Given the description of an element on the screen output the (x, y) to click on. 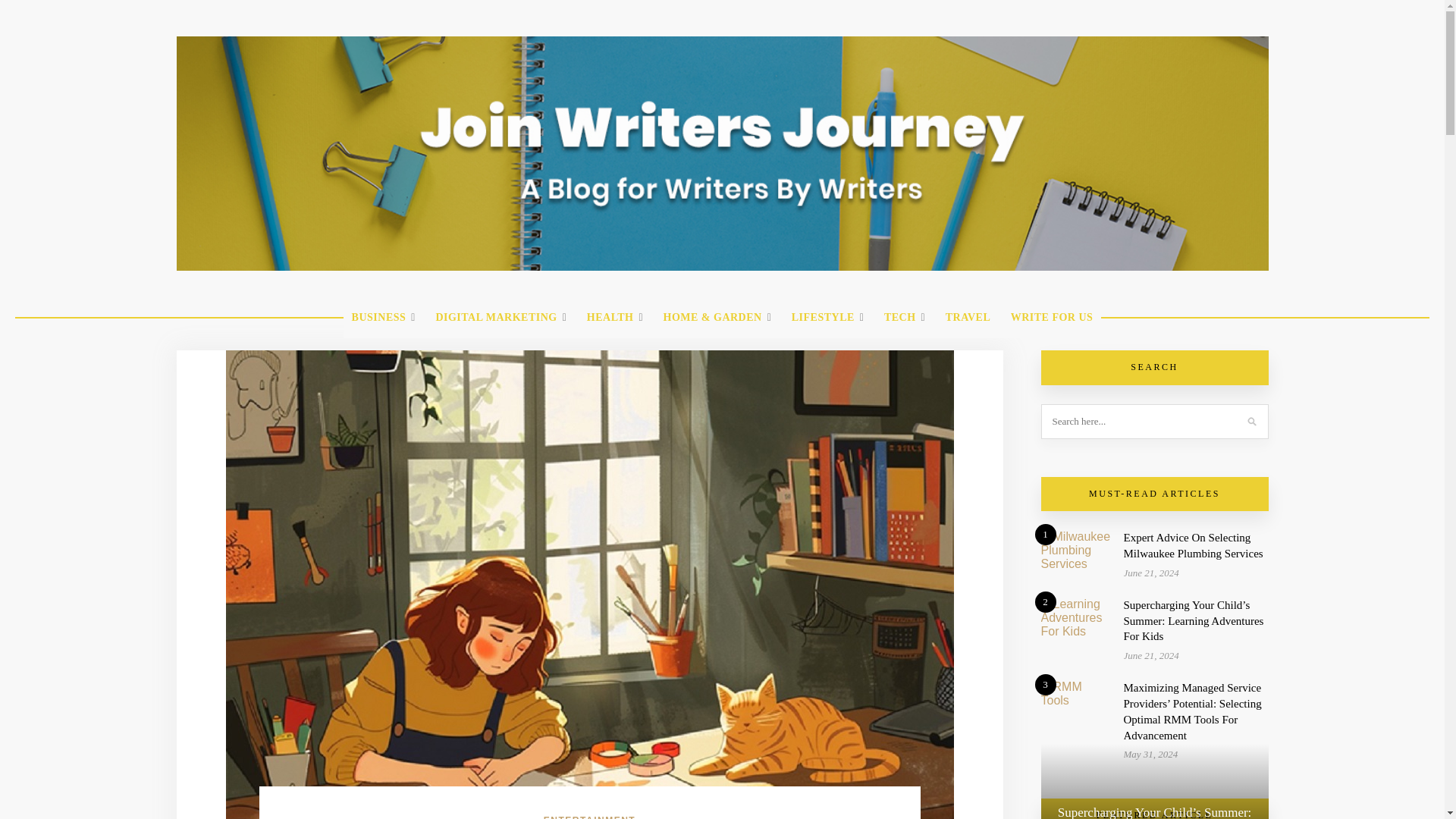
DIGITAL MARKETING (500, 317)
HEALTH (614, 317)
BUSINESS (383, 317)
TECH (903, 317)
LIFESTYLE (828, 317)
